Given the description of an element on the screen output the (x, y) to click on. 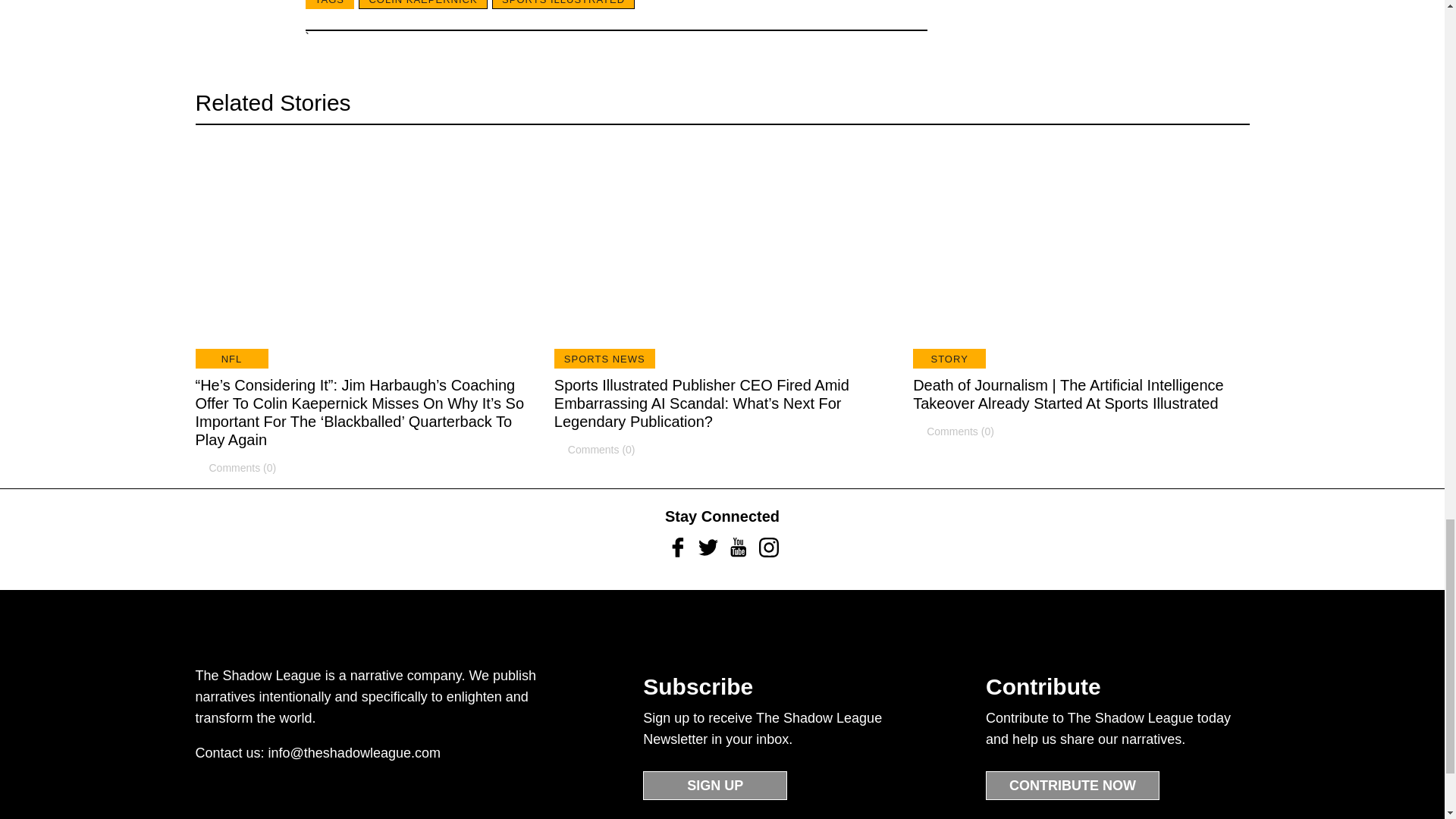
COLIN KAEPERNICK (422, 4)
TAGS (328, 4)
SPORTS ILLUSTRATED (563, 4)
